Given the description of an element on the screen output the (x, y) to click on. 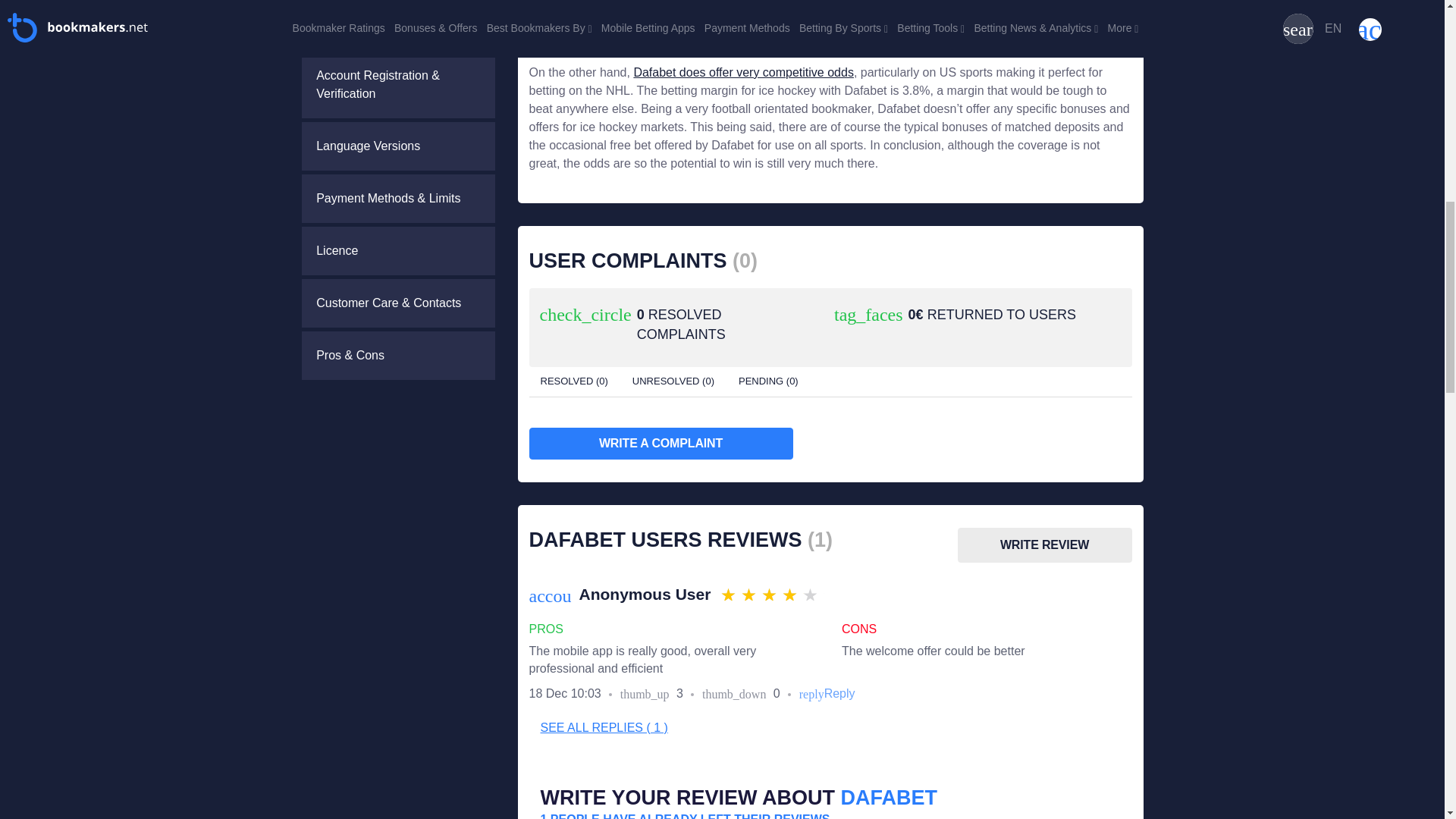
Dafabet payment methods (397, 198)
WRITE REVIEW (1043, 544)
Dafabet live streams (397, 23)
Dafabet english (397, 146)
Dafabet registration (397, 84)
